Given the description of an element on the screen output the (x, y) to click on. 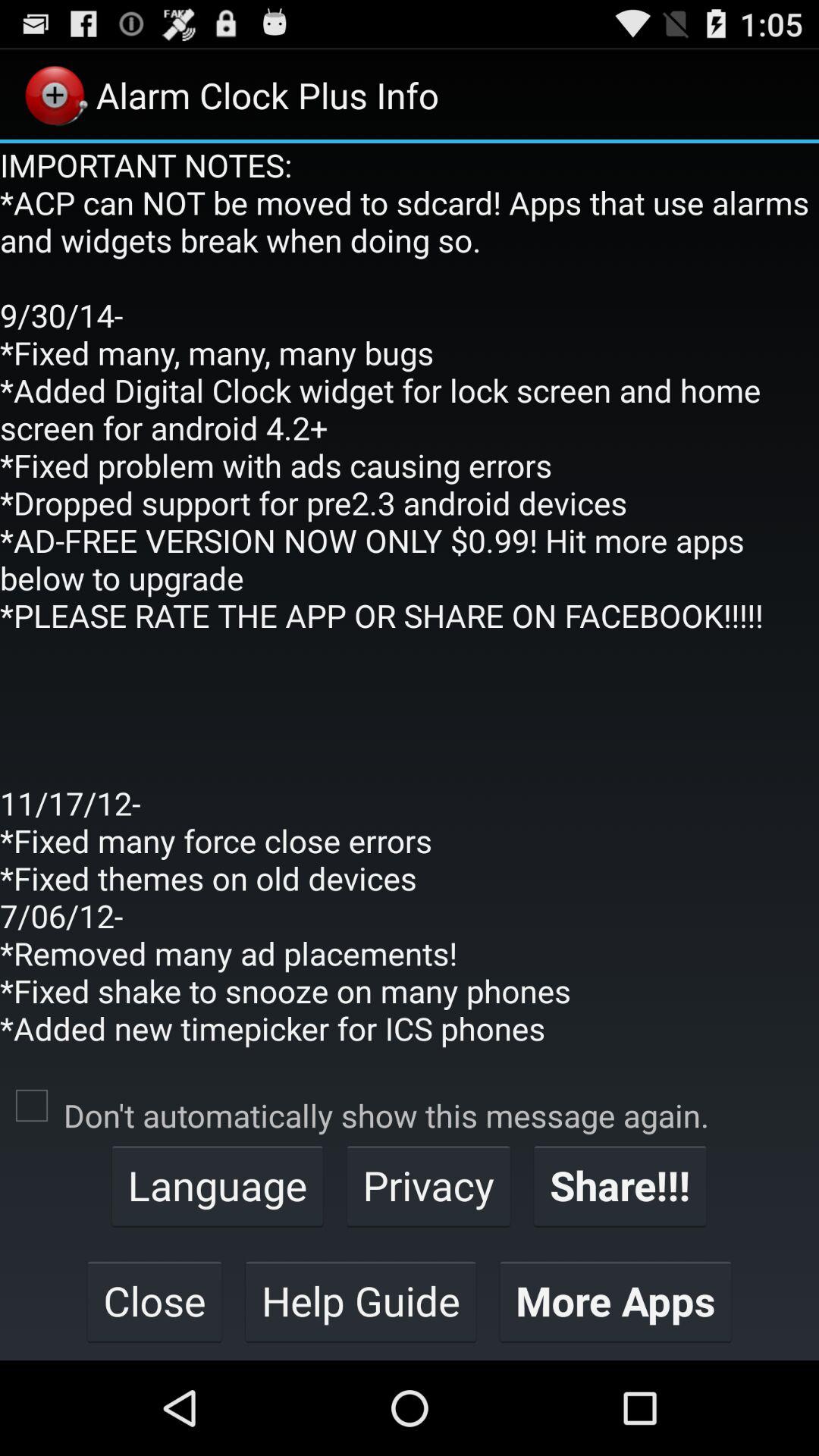
select the help guide item (360, 1300)
